Given the description of an element on the screen output the (x, y) to click on. 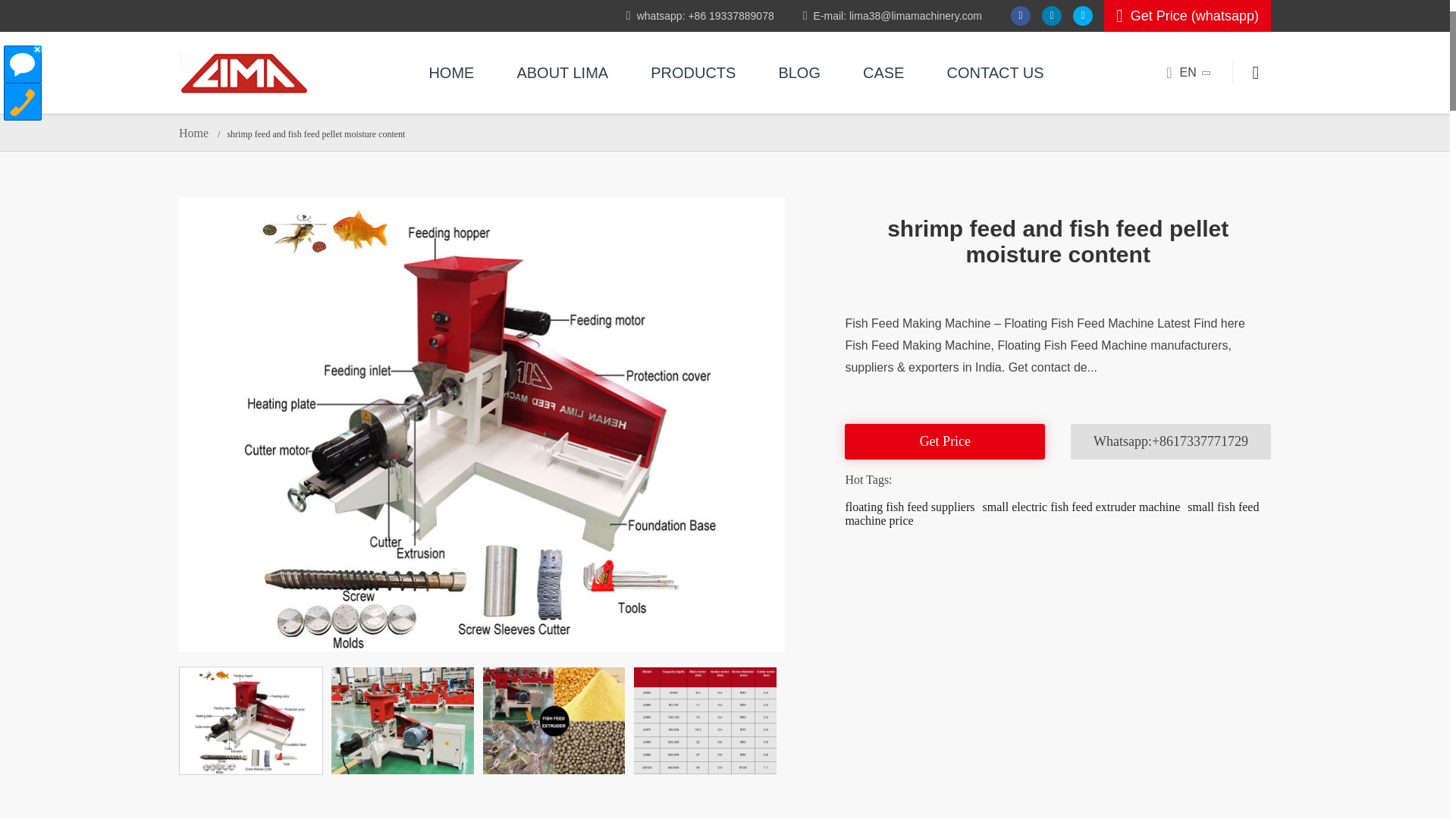
floating fish feed making machine in Nigeria (243, 72)
Lima fish feed machines linkedin (1051, 15)
lima fish feed machines youtube (1083, 15)
CONTACT US (994, 72)
BLOG (799, 72)
HOME (451, 72)
CASE (882, 72)
ABOUT LIMA (561, 72)
Blog (799, 72)
lima fish feed machines factory (561, 72)
PRODUCTS (692, 72)
Lima Fish Feed Machine (451, 72)
fish feed machines supplier (692, 72)
Get Price (944, 441)
lima fish feed machines (994, 72)
